Given the description of an element on the screen output the (x, y) to click on. 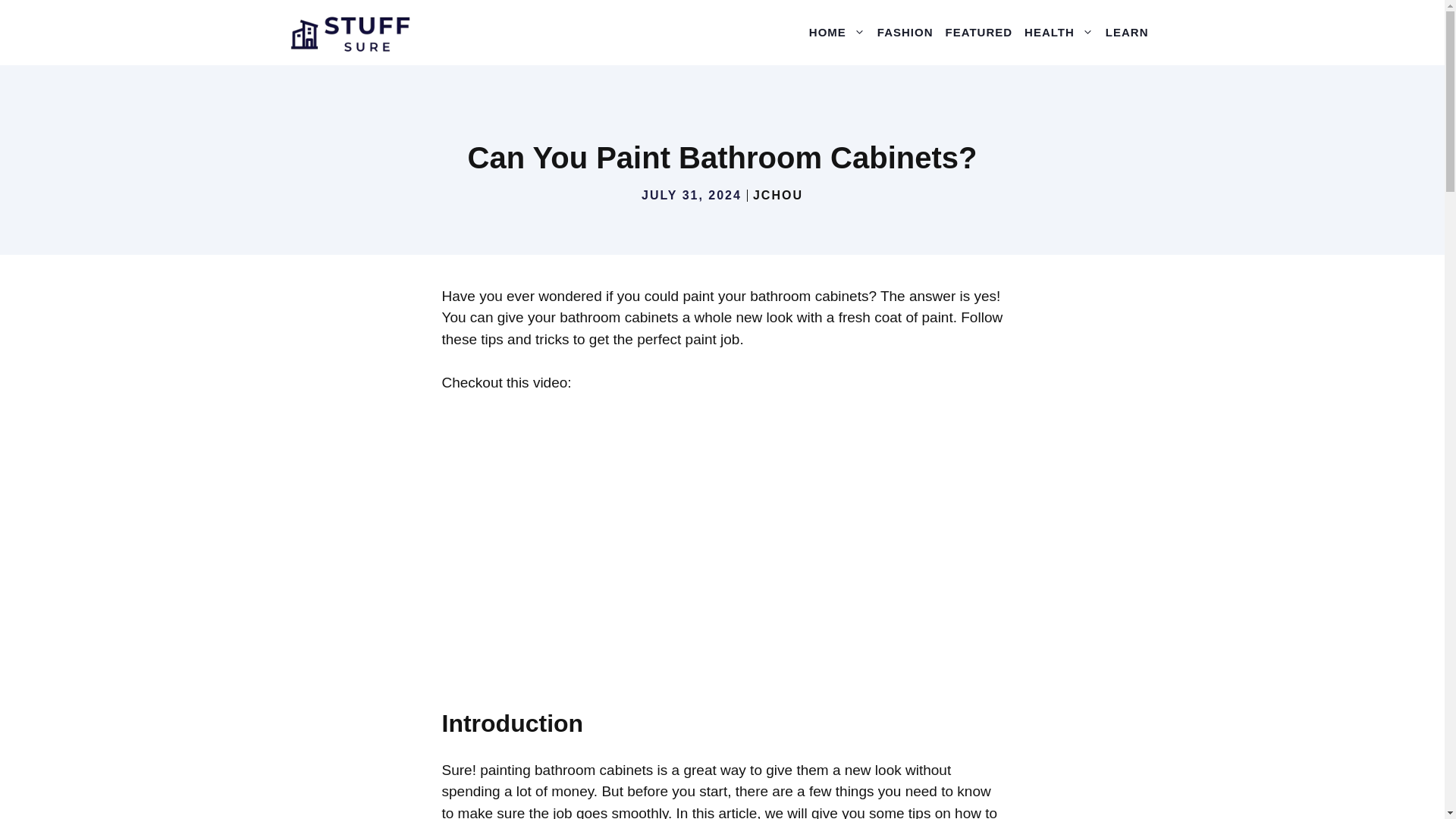
LEARN (1126, 32)
HEALTH (1058, 32)
FEATURED (979, 32)
HOME (836, 32)
FASHION (904, 32)
